Given the description of an element on the screen output the (x, y) to click on. 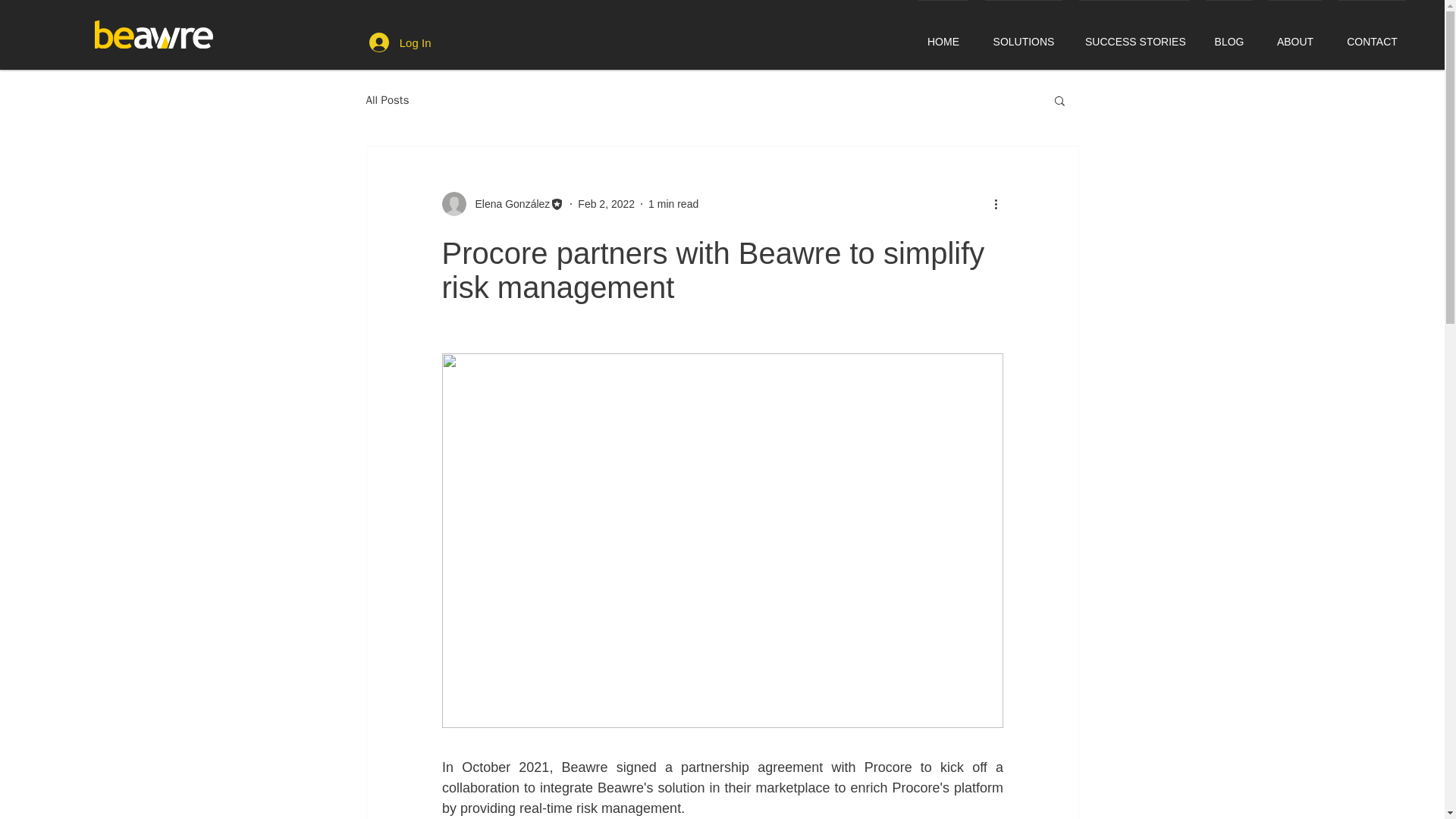
CONTACT (1371, 34)
1 min read (672, 203)
Home (153, 34)
Log In (400, 41)
ABOUT (1295, 34)
BLOG (1229, 34)
SOLUTIONS (1023, 34)
All Posts (387, 99)
SUCCESS STORIES (1134, 34)
HOME (943, 34)
Feb 2, 2022 (606, 203)
